Given the description of an element on the screen output the (x, y) to click on. 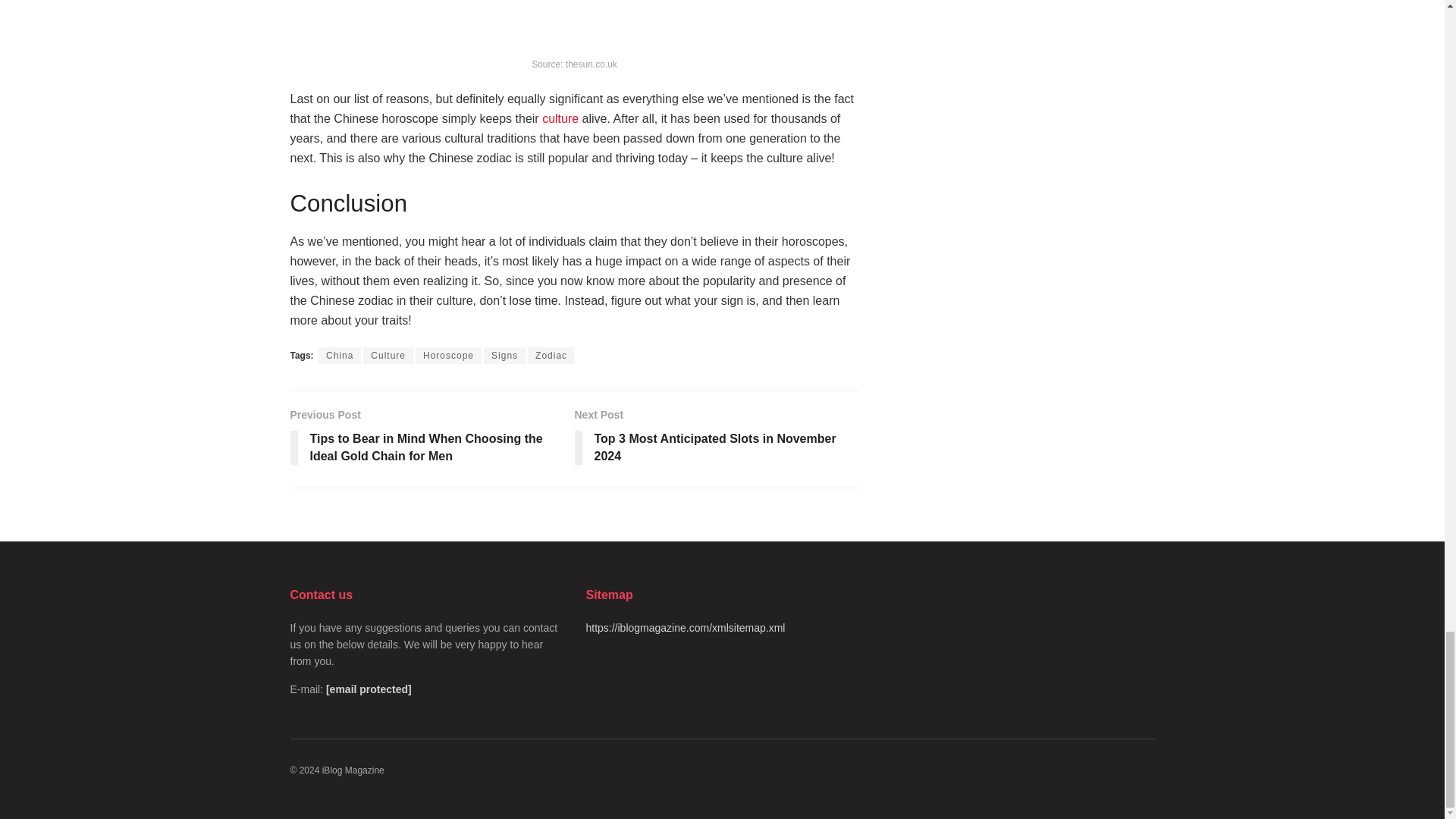
Culture (387, 355)
Signs (504, 355)
Zodiac (551, 355)
China (339, 355)
Horoscope (447, 355)
culture (559, 118)
